Given the description of an element on the screen output the (x, y) to click on. 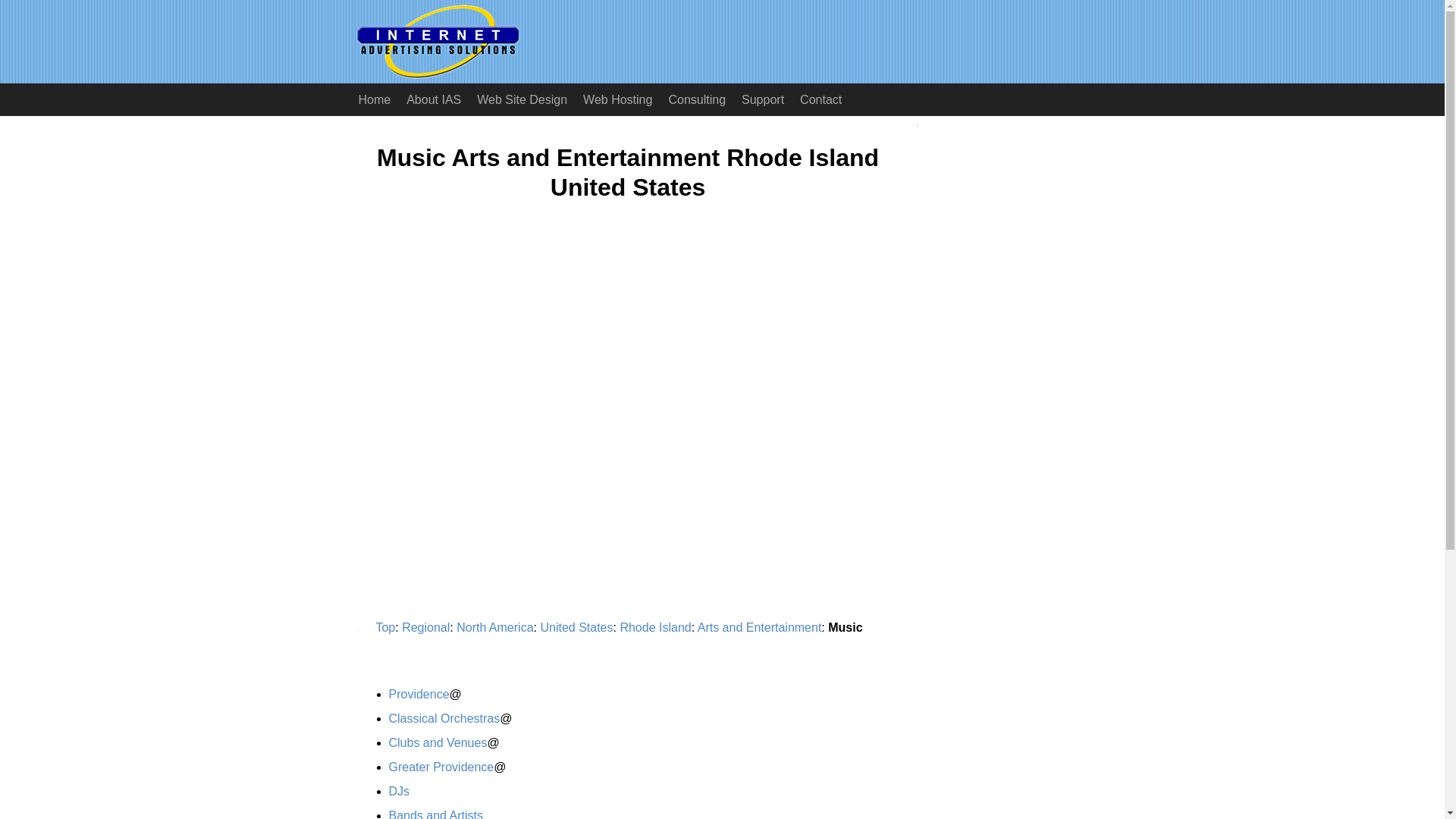
Providence (418, 694)
Consulting (697, 99)
Classical Orchestras (443, 717)
About IAS (433, 99)
Contact (820, 99)
Regional (425, 626)
Advertisement (485, 360)
Support (762, 99)
North America (494, 626)
Rhode Island (655, 626)
Bands and Artists (435, 814)
Web Hosting (617, 99)
Arts and Entertainment (759, 626)
Advertisement (433, 524)
Home (373, 99)
